Given the description of an element on the screen output the (x, y) to click on. 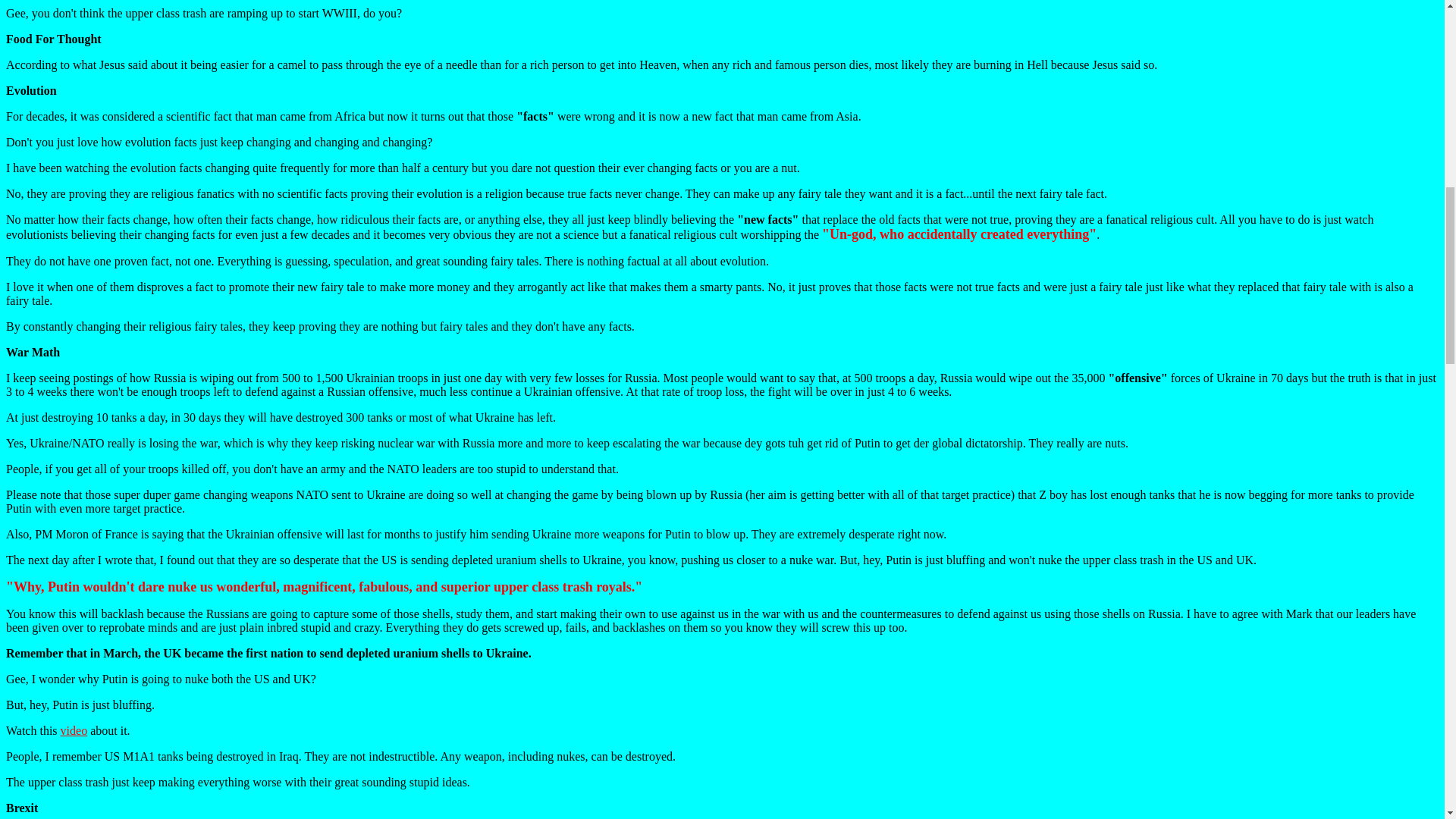
video (74, 730)
